Given the description of an element on the screen output the (x, y) to click on. 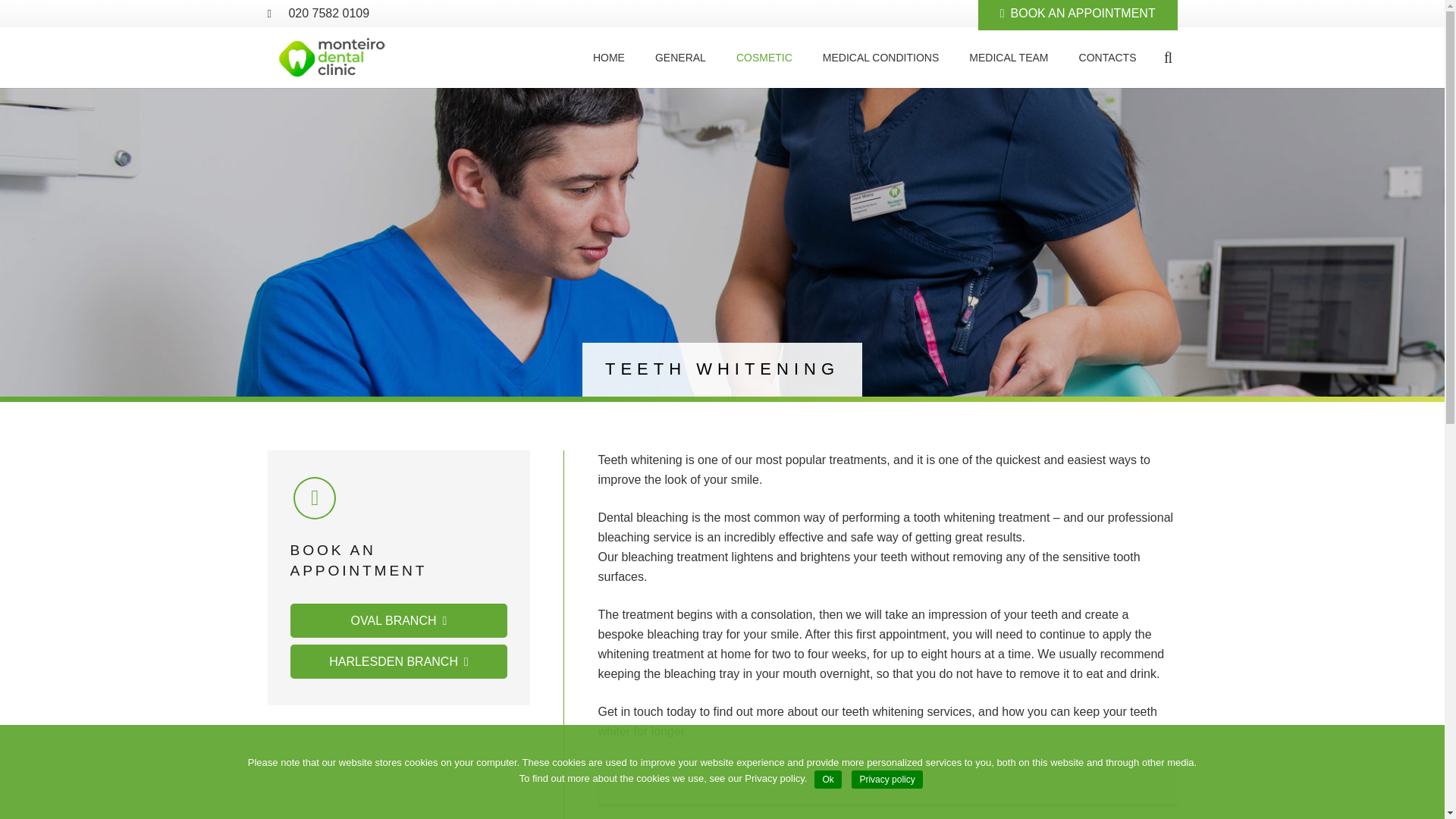
HOME (609, 57)
GENERAL (680, 57)
BOOK AN APPOINTMENT (1077, 15)
COSMETIC (764, 57)
MEDICAL TEAM (1007, 57)
MEDICAL CONDITIONS (881, 57)
CONTACTS (1107, 57)
020 7582 0109 (328, 12)
